Given the description of an element on the screen output the (x, y) to click on. 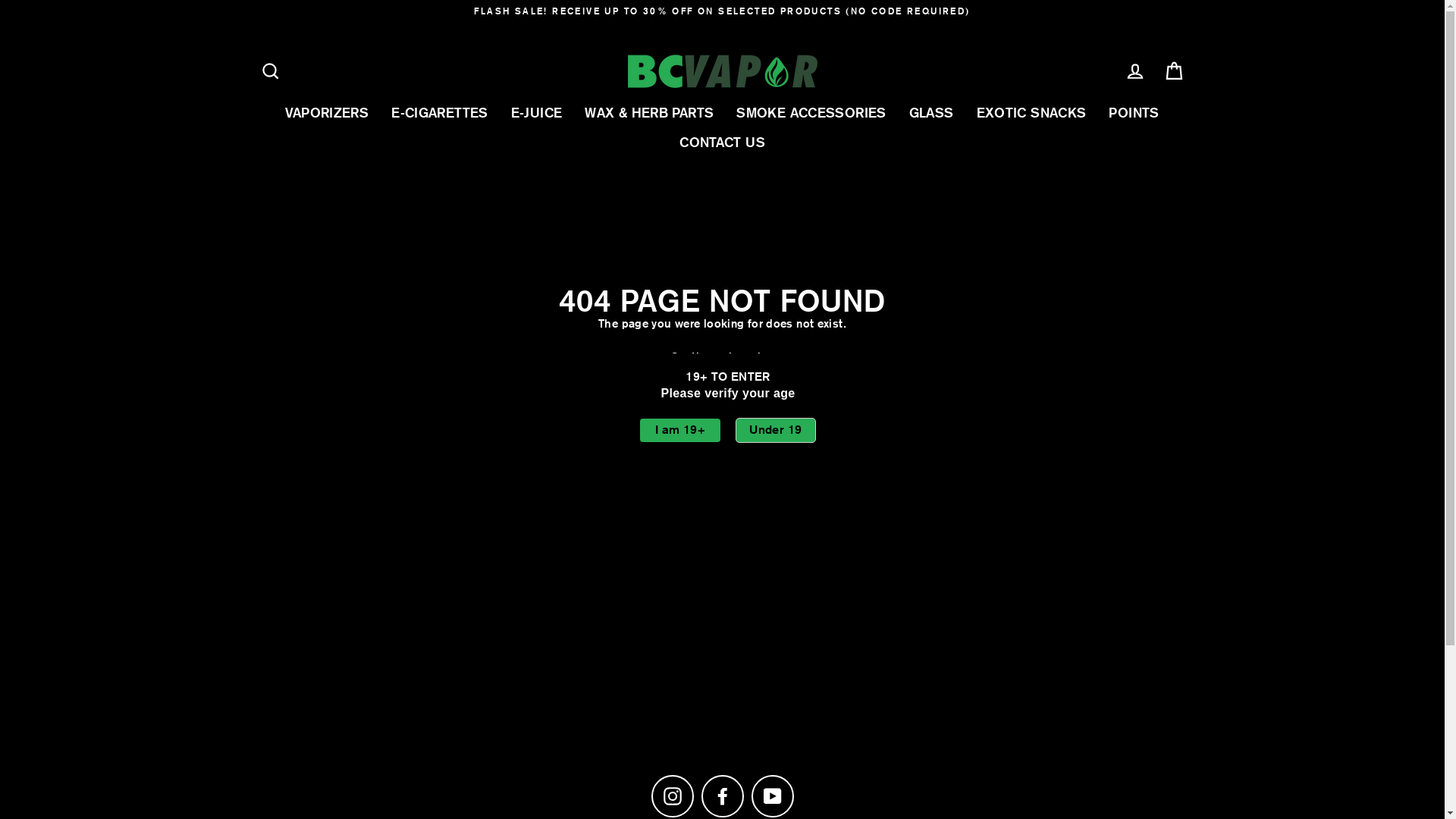
Continue shopping Element type: text (721, 358)
Cart Element type: text (1173, 70)
VAPORIZERS Element type: text (326, 112)
Instagram Element type: text (671, 796)
EXOTIC SNACKS Element type: text (1030, 112)
Search Element type: text (269, 70)
E-JUICE Element type: text (536, 112)
GLASS Element type: text (931, 112)
YouTube Element type: text (771, 796)
CONTACT US Element type: text (722, 141)
Under 19 Element type: text (775, 429)
SMOKE ACCESSORIES Element type: text (810, 112)
Facebook Element type: text (721, 796)
POINTS Element type: text (1133, 112)
Skip to content Element type: text (0, 0)
E-CIGARETTES Element type: text (439, 112)
I am 19+ Element type: text (680, 430)
Log in Element type: text (1134, 70)
WAX & HERB PARTS Element type: text (648, 112)
